Given the description of an element on the screen output the (x, y) to click on. 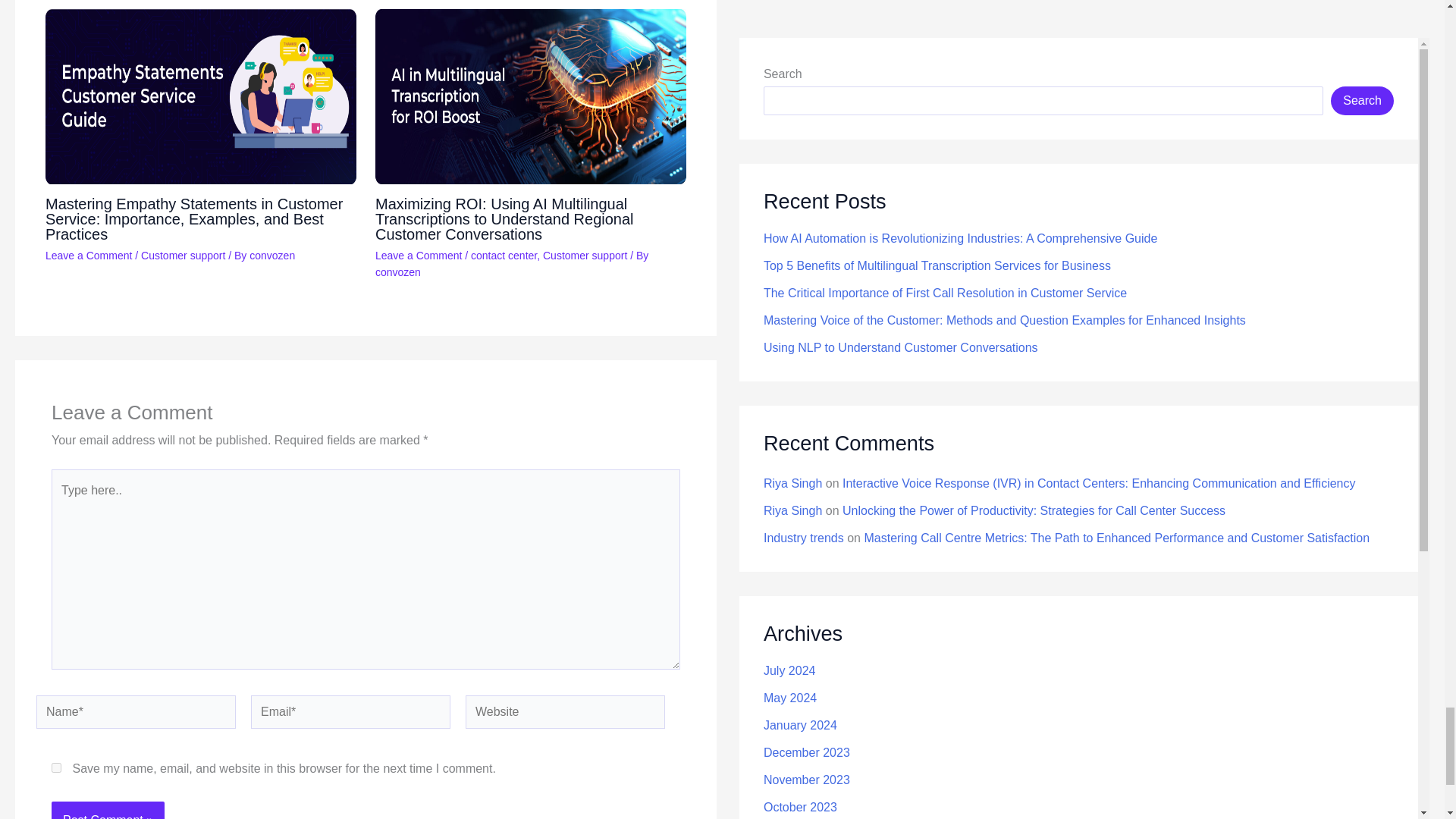
View all posts by convozen (271, 255)
yes (55, 767)
View all posts by convozen (397, 272)
